Given the description of an element on the screen output the (x, y) to click on. 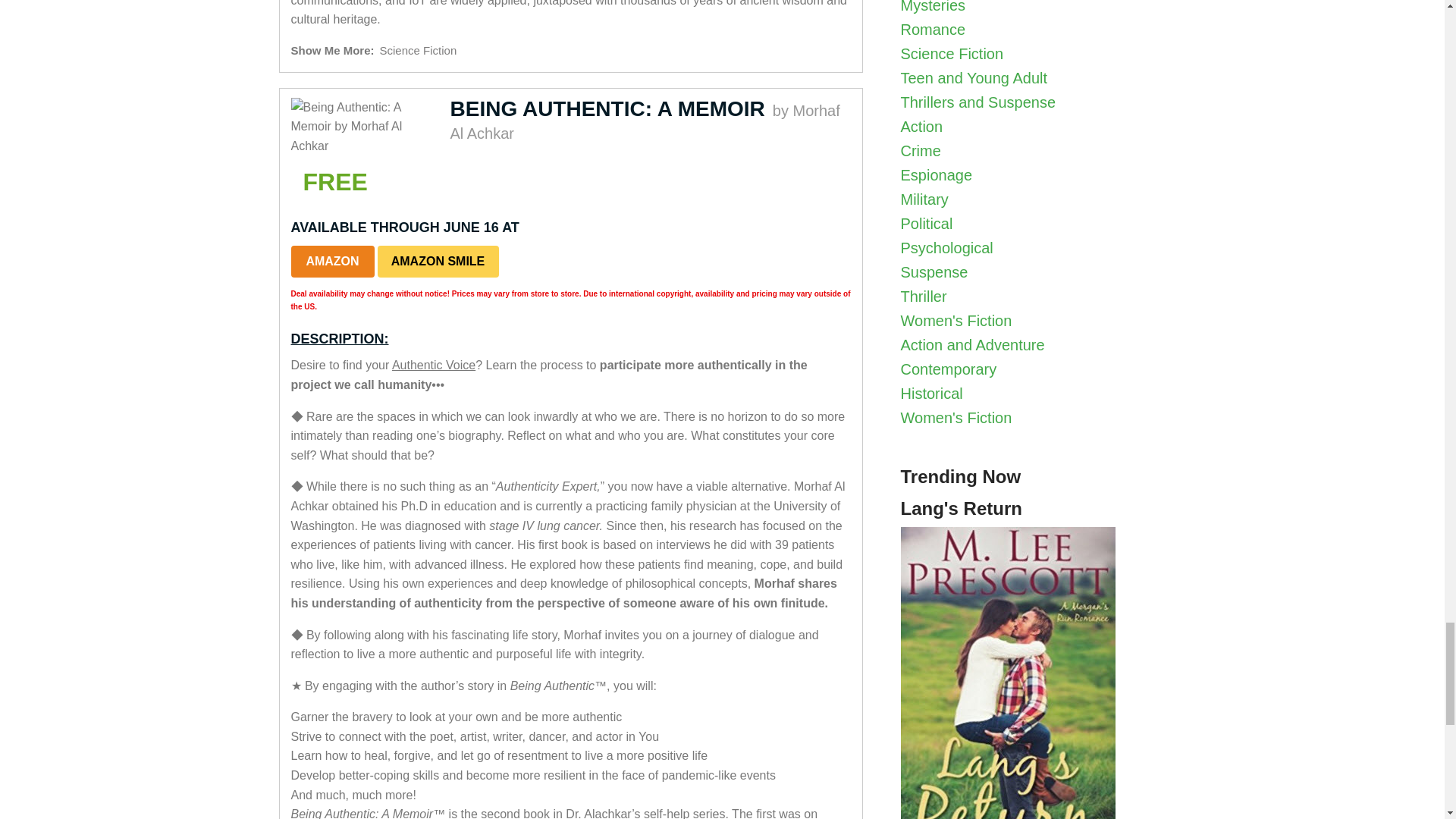
AMAZON SMILE (438, 261)
AMAZON (332, 261)
Science Fiction (418, 50)
